Given the description of an element on the screen output the (x, y) to click on. 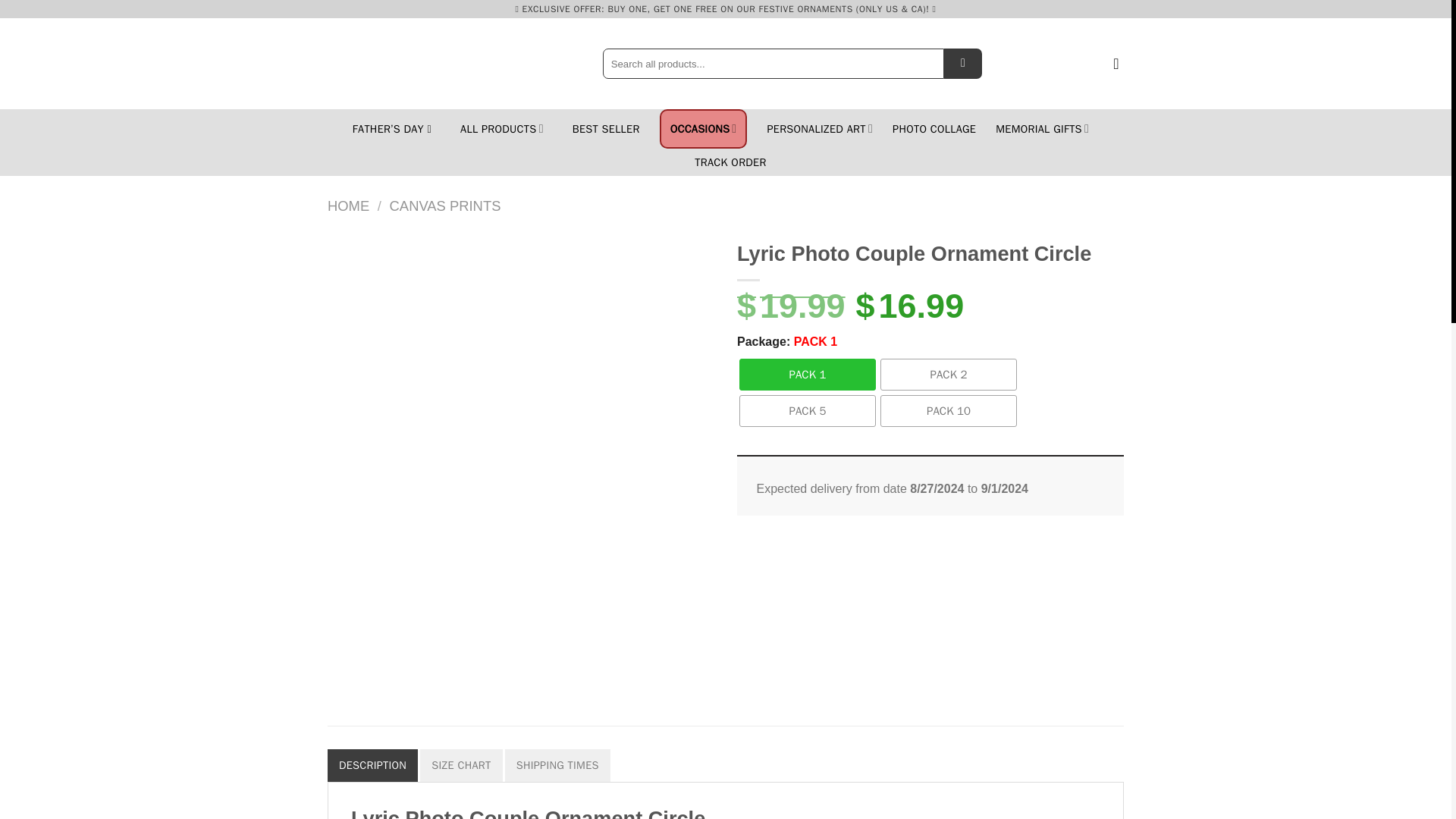
PACK 2 (948, 374)
PACK 5 (807, 410)
Search (962, 63)
PERSONALIZED ART (819, 128)
OCCASIONS (702, 128)
BEST SELLER (606, 128)
PACK 10 (948, 410)
ALL PRODUCTS (501, 128)
PACK 1 (807, 374)
